Given the description of an element on the screen output the (x, y) to click on. 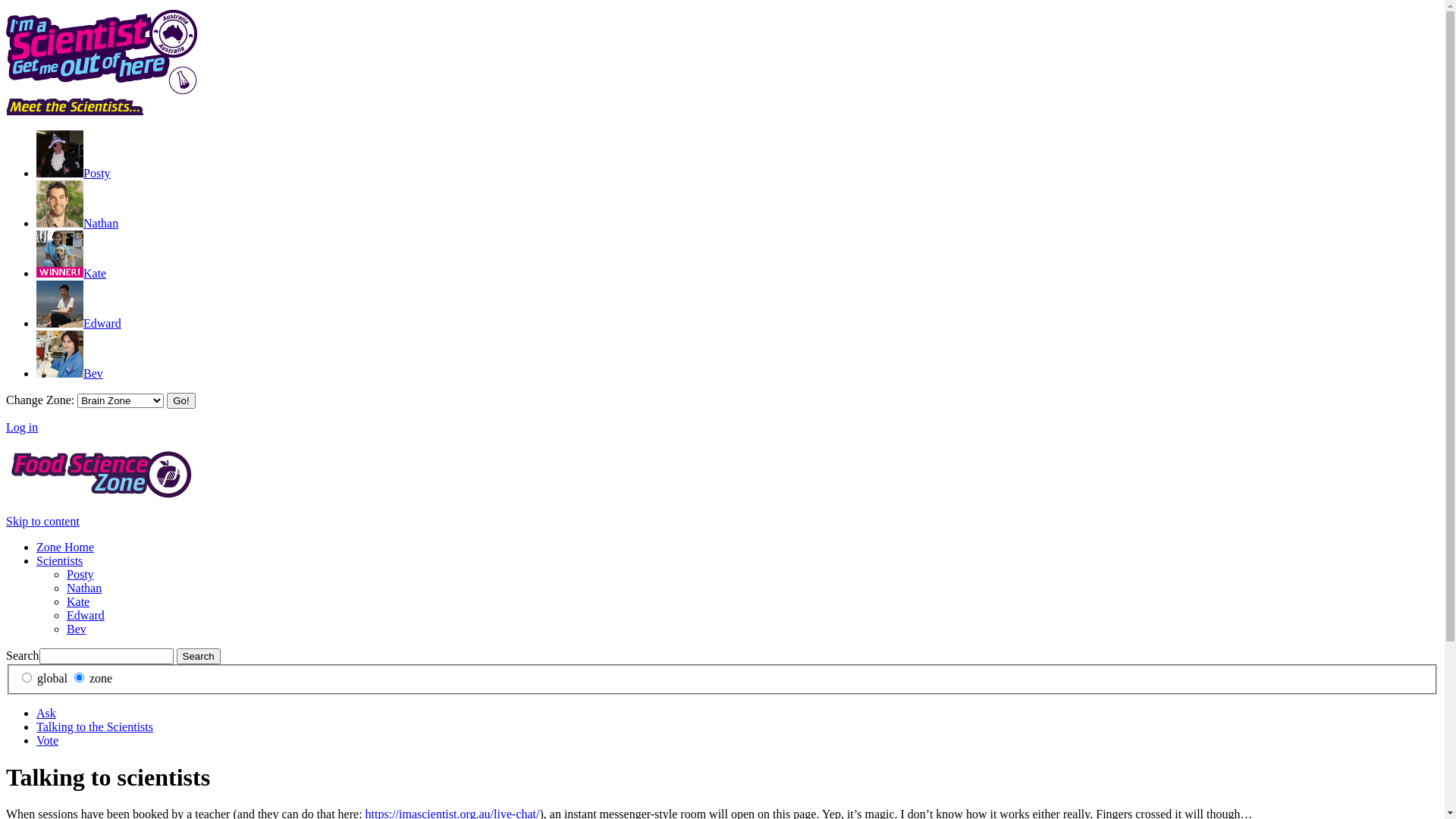
Posty Element type: text (73, 172)
Nathan Element type: text (83, 587)
Ask Element type: text (46, 712)
Log in Element type: text (21, 426)
Posty Element type: text (80, 573)
Vote Element type: text (47, 740)
Bev Element type: text (69, 373)
Bev Element type: text (76, 628)
Edward Element type: text (78, 322)
Kate Element type: text (71, 272)
Edward Element type: text (85, 614)
Nathan Element type: text (77, 222)
Search Element type: text (198, 656)
I'm a Scientist, Get me out of Here! Australia home Element type: hover (101, 90)
Scientists Element type: text (59, 560)
Go! Element type: text (180, 400)
Zone Home Element type: text (65, 546)
Skip to content Element type: text (42, 520)
Talking to the Scientists Element type: text (94, 726)
Kate Element type: text (77, 601)
Go to Zone home Element type: hover (100, 495)
